Given the description of an element on the screen output the (x, y) to click on. 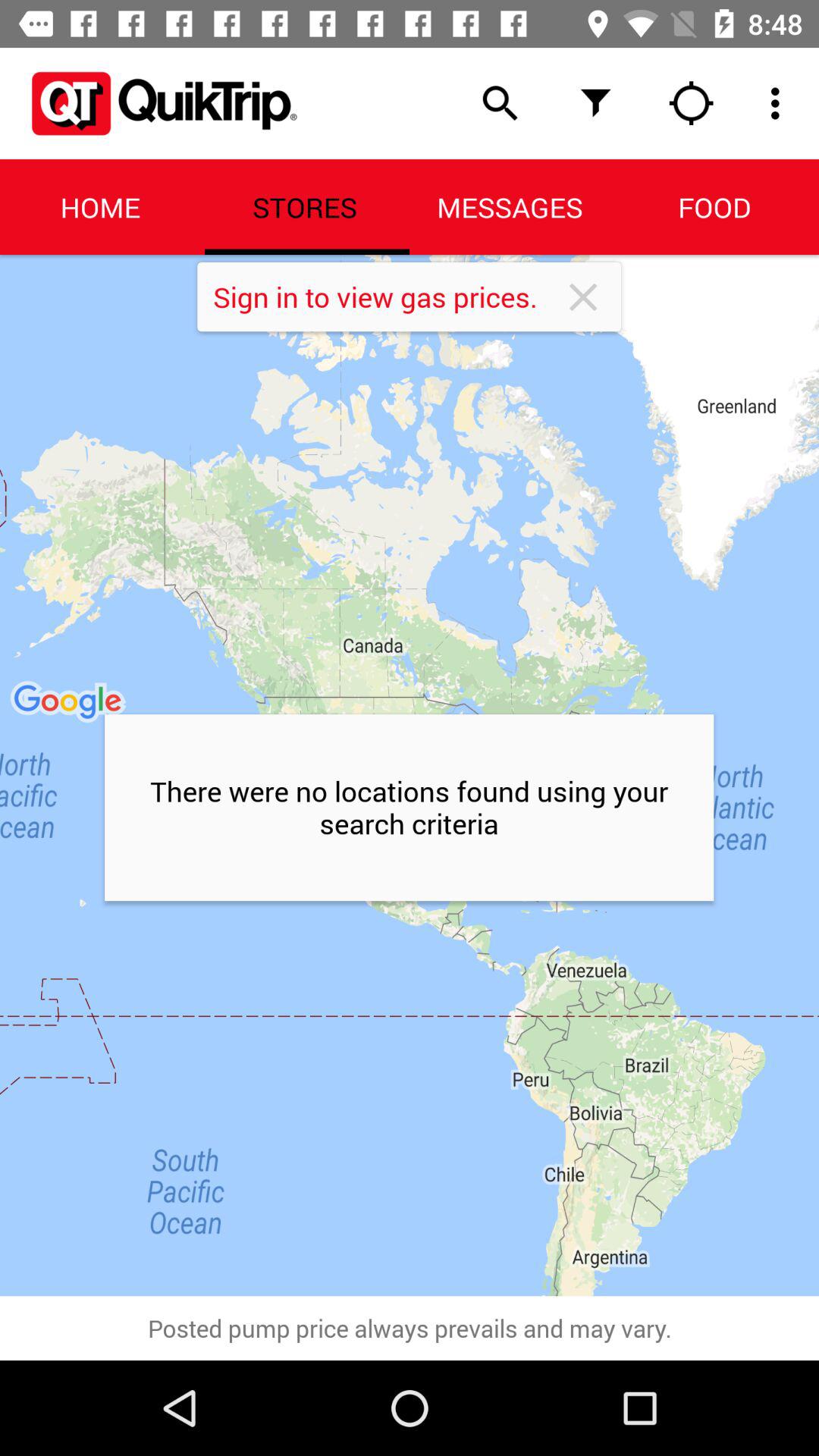
launch item above the food icon (779, 103)
